Given the description of an element on the screen output the (x, y) to click on. 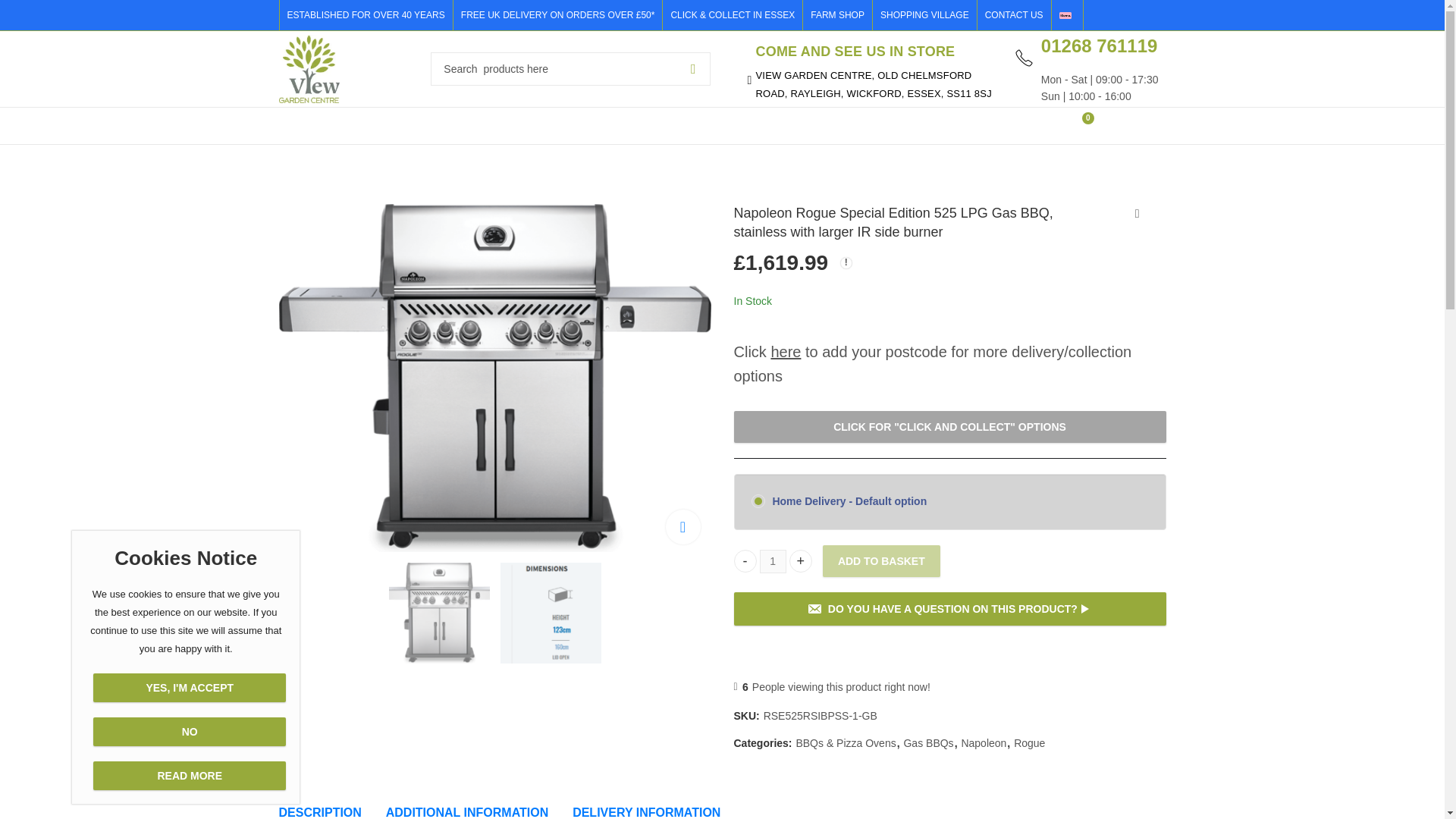
SHOPPING VILLAGE (924, 15)
Qty (773, 561)
SEARCH (693, 68)
ESTABLISHED FOR OVER 40 YEARS (368, 15)
Garden Furniture (404, 125)
01268 761119 (1099, 46)
1 (773, 561)
- (745, 560)
